Given the description of an element on the screen output the (x, y) to click on. 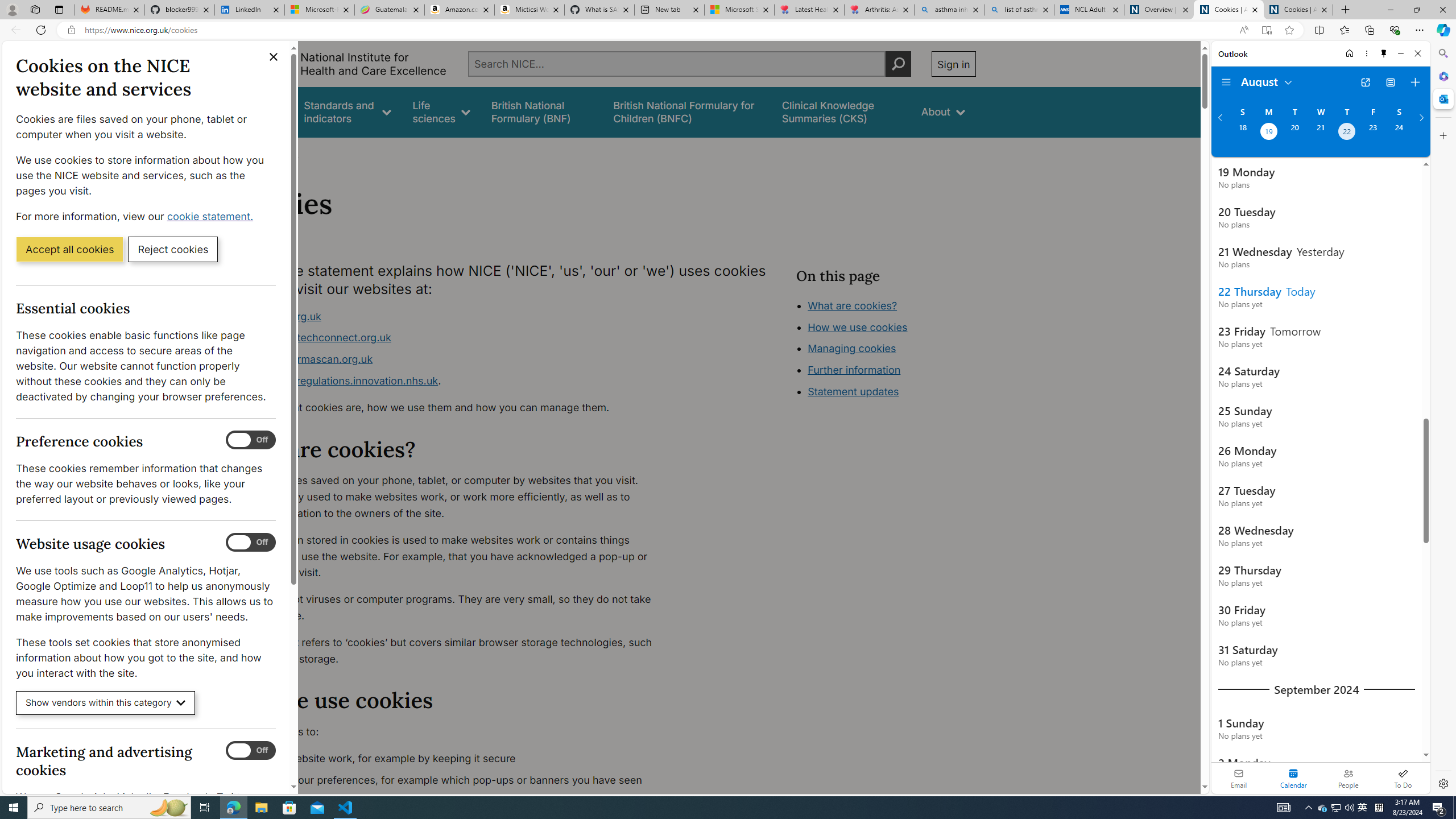
Email (1238, 777)
www.ukpharmascan.org.uk (452, 359)
Monday, August 19, 2024. Date selected.  (1268, 132)
Home (1348, 53)
Life sciences (440, 111)
Class: in-page-nav__list (884, 349)
Managing cookies (852, 348)
